Given the description of an element on the screen output the (x, y) to click on. 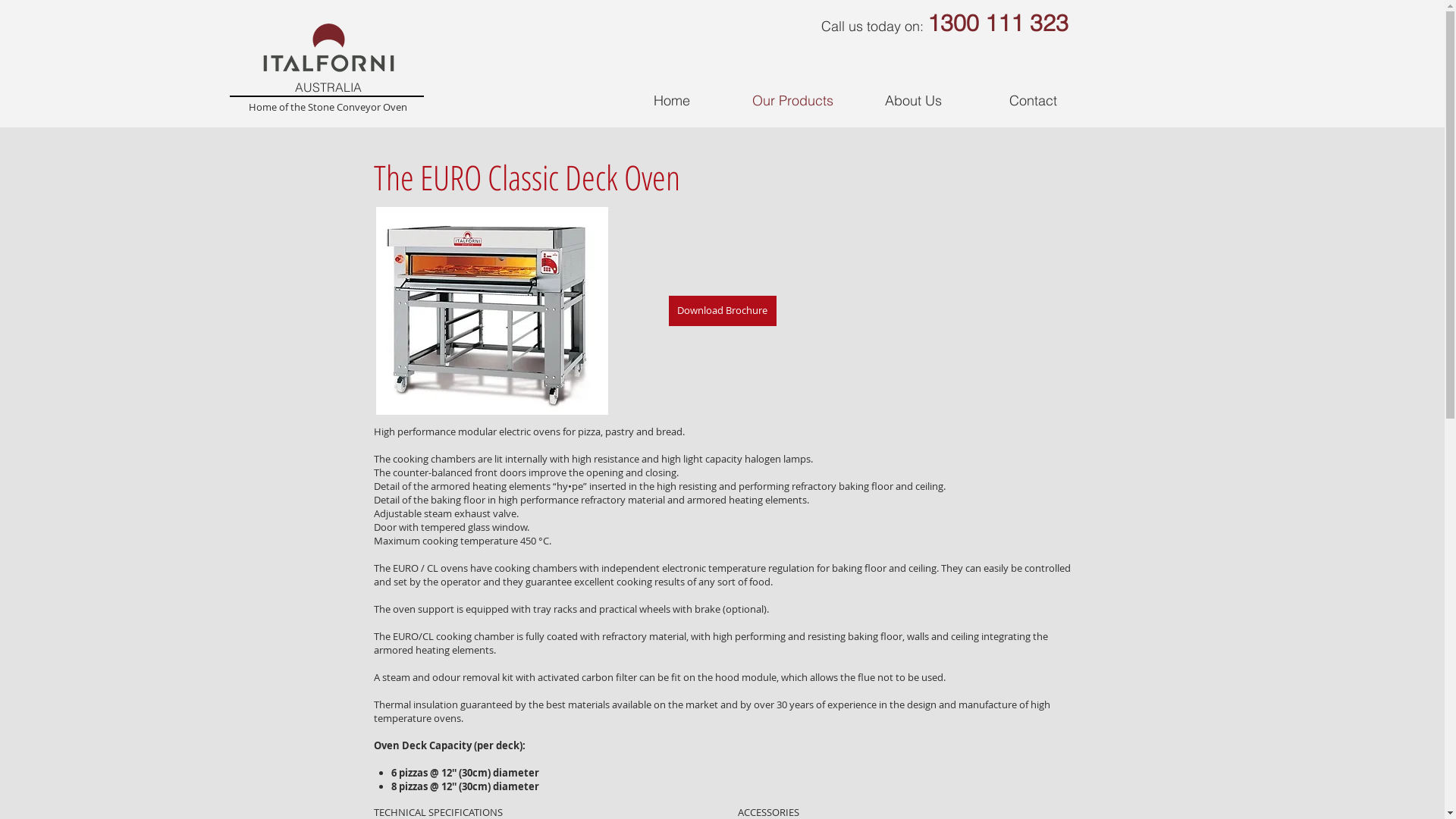
1300 111 323 Element type: text (996, 23)
Home Element type: text (671, 100)
AUSTRALIA Element type: text (327, 86)
Download Brochure Element type: text (722, 310)
About Us Element type: text (912, 100)
Our Products Element type: text (792, 100)
Contact Element type: text (1033, 100)
Home of the Stone Conveyor Oven Element type: text (327, 106)
